Given the description of an element on the screen output the (x, y) to click on. 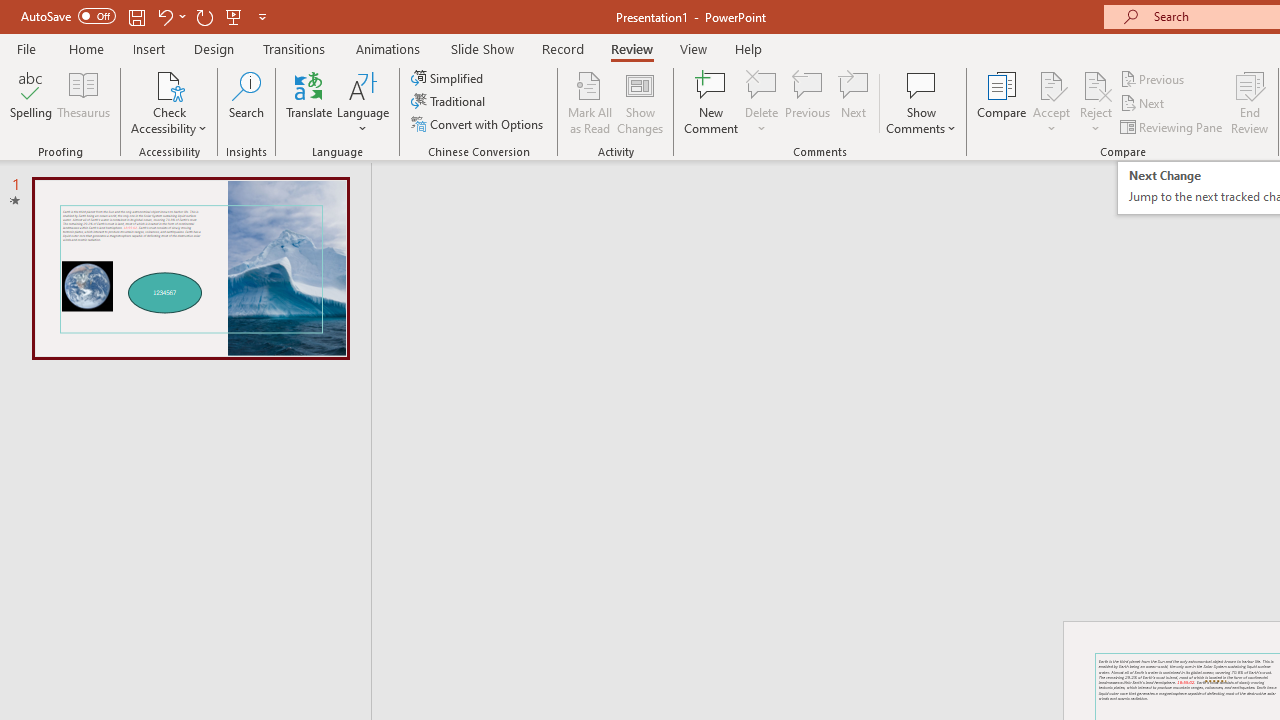
Spelling... (31, 102)
Next (1144, 103)
Reject (1096, 102)
End Review (1249, 102)
Thesaurus... (83, 102)
Compare (1002, 102)
Check Accessibility (169, 102)
Accept Change (1051, 84)
